Given the description of an element on the screen output the (x, y) to click on. 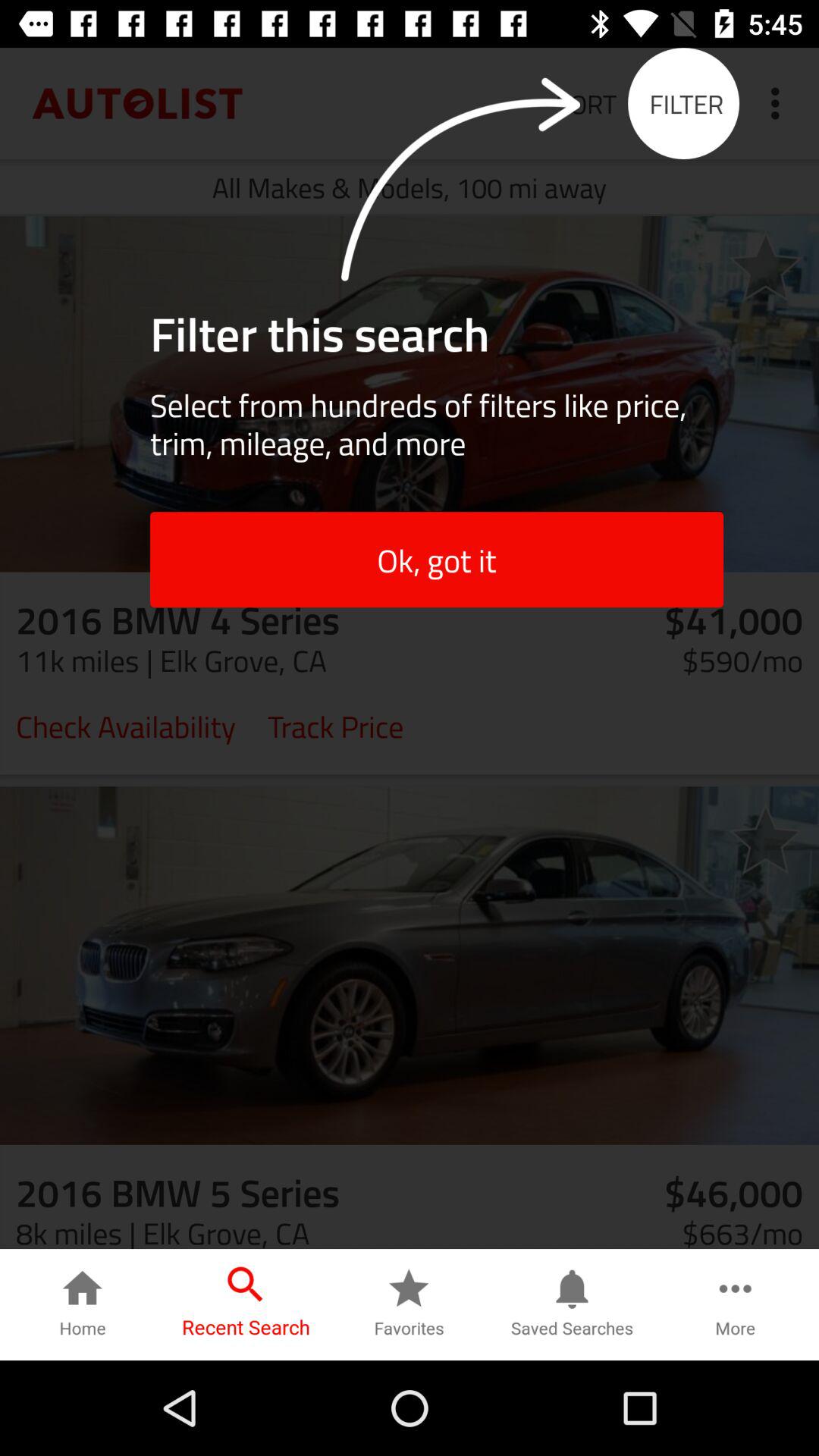
jump until check availability item (125, 725)
